Given the description of an element on the screen output the (x, y) to click on. 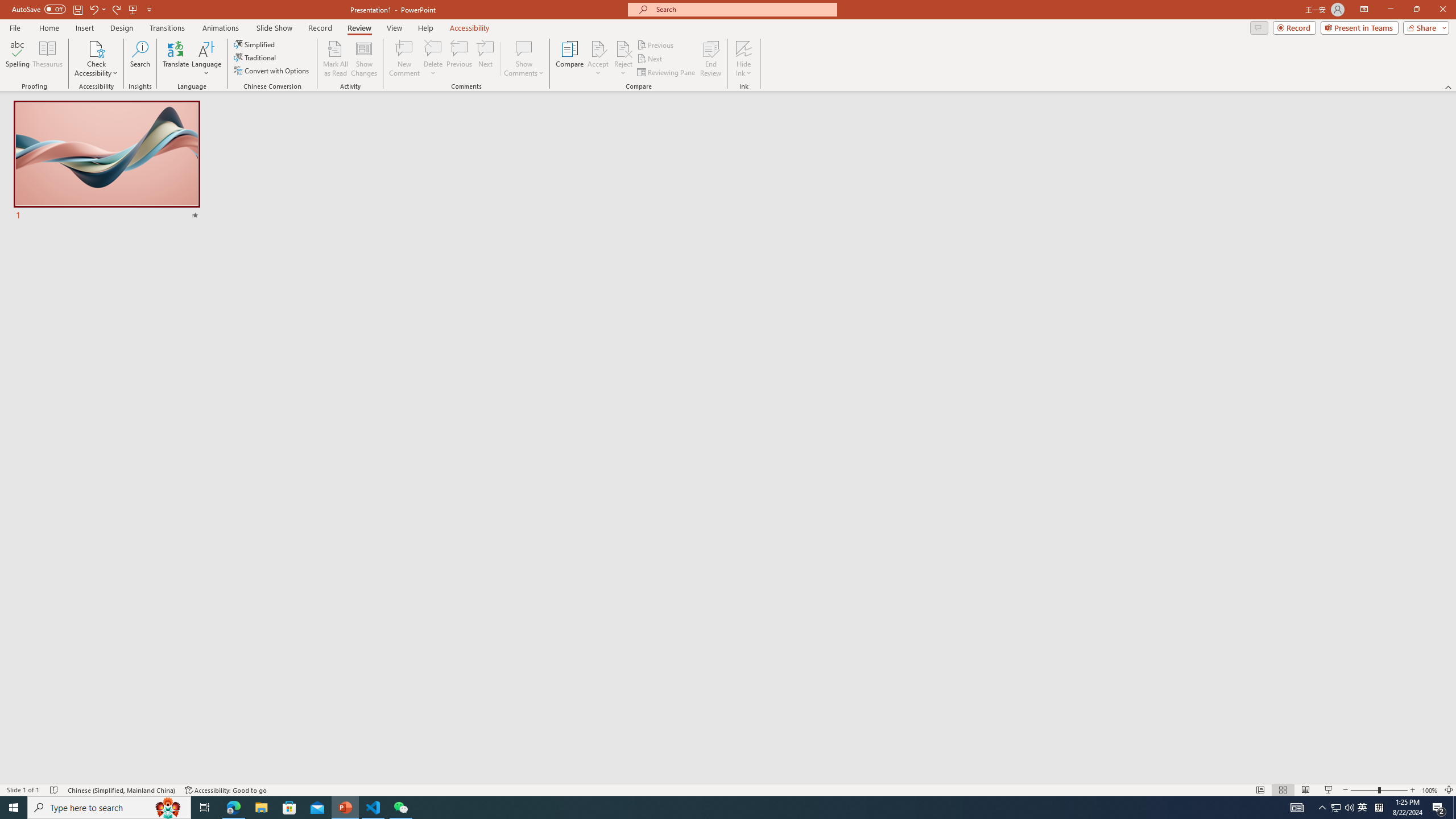
Compare (569, 58)
New Comment (403, 58)
Previous (655, 44)
Reject Change (622, 48)
Check Accessibility (95, 48)
Accept Change (598, 48)
Show Comments (524, 58)
Reviewing Pane (666, 72)
